Given the description of an element on the screen output the (x, y) to click on. 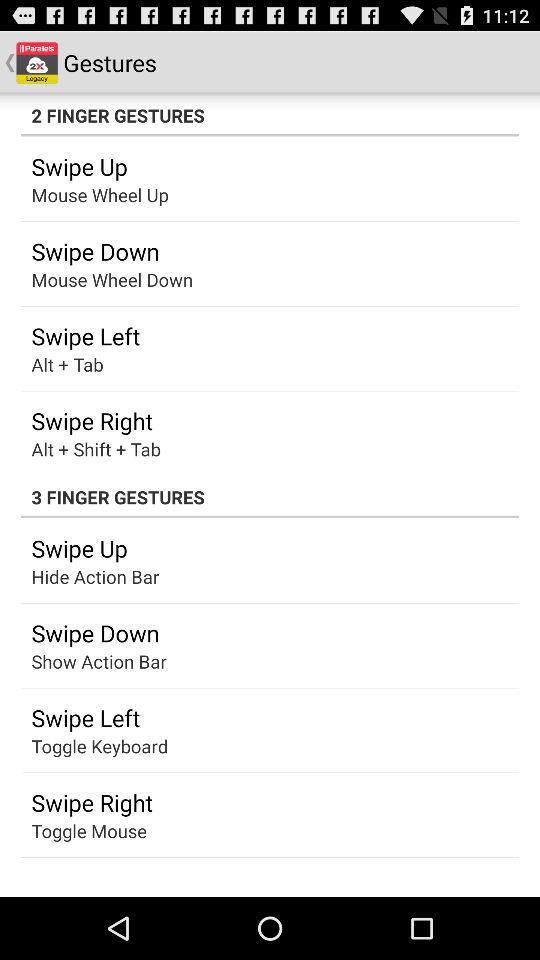
launch toggle mouse icon (88, 830)
